Given the description of an element on the screen output the (x, y) to click on. 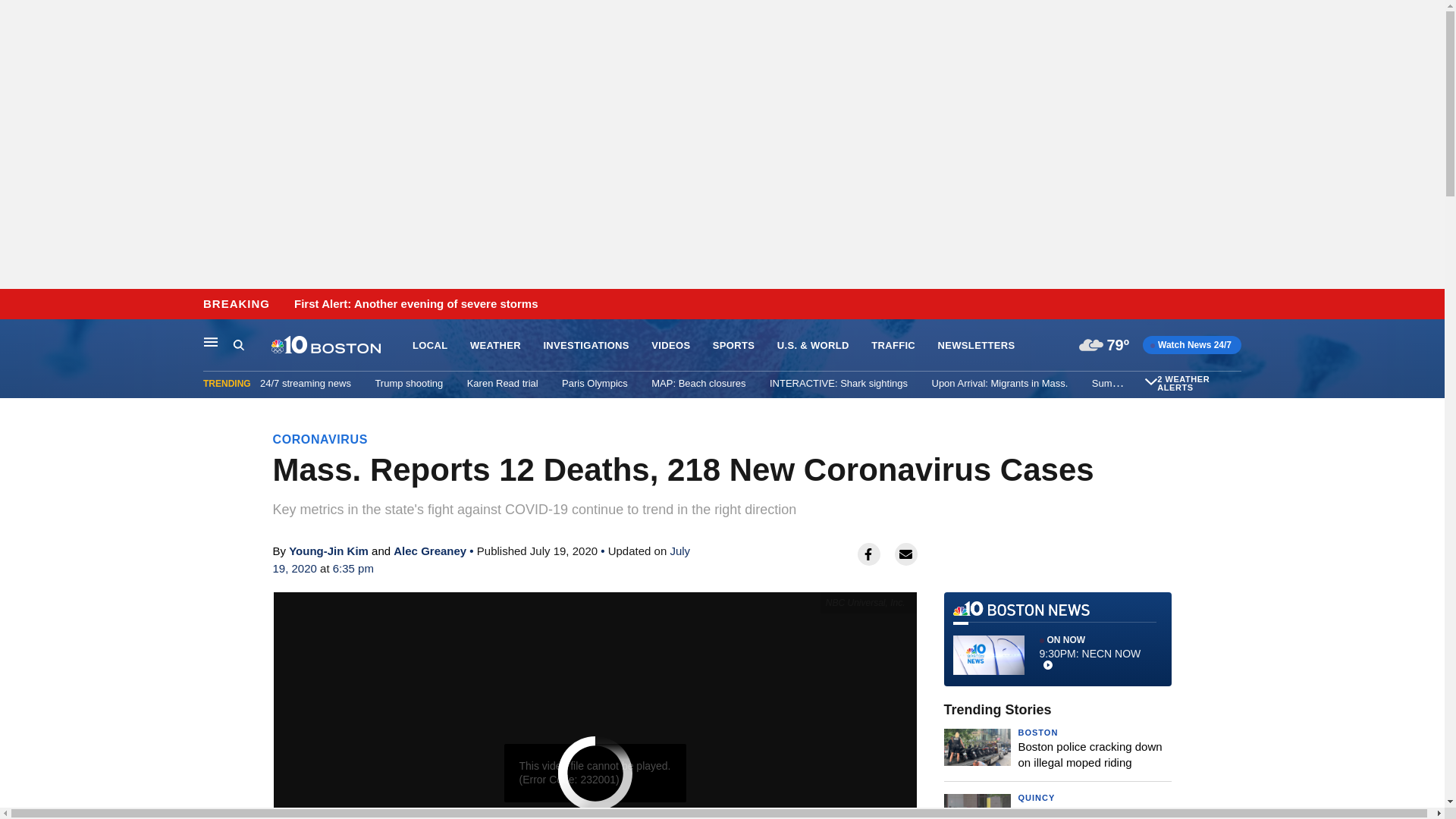
Skip to content (16, 304)
First Alert: Another evening of severe storms (415, 304)
Upon Arrival: Migrants in Mass. (999, 383)
VIDEOS (670, 345)
Trump shooting (408, 383)
INVESTIGATIONS (585, 345)
NEWSLETTERS (975, 345)
Summer Savings (1129, 383)
WEATHER (495, 345)
CORONAVIRUS (320, 439)
Search (238, 344)
LOCAL (429, 345)
Alec Greaney (429, 550)
Expand (1150, 381)
Main Navigation (210, 341)
